Given the description of an element on the screen output the (x, y) to click on. 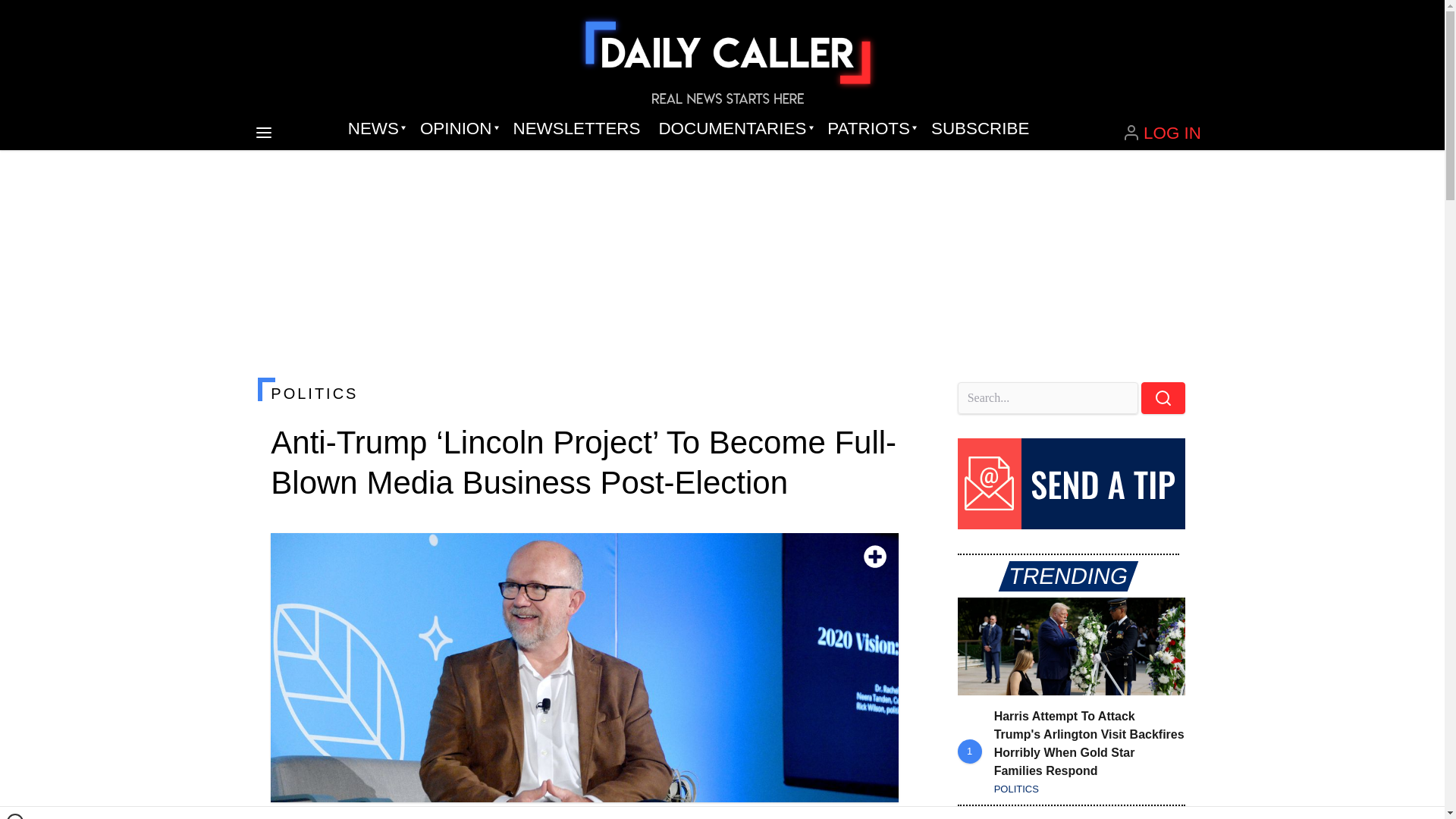
Close window (14, 816)
PATRIOTS (869, 128)
OPINION (456, 128)
DOCUMENTARIES (733, 128)
SUBSCRIBE (979, 128)
NEWS (374, 128)
NEWSLETTERS (576, 128)
Toggle fullscreen (874, 556)
